Given the description of an element on the screen output the (x, y) to click on. 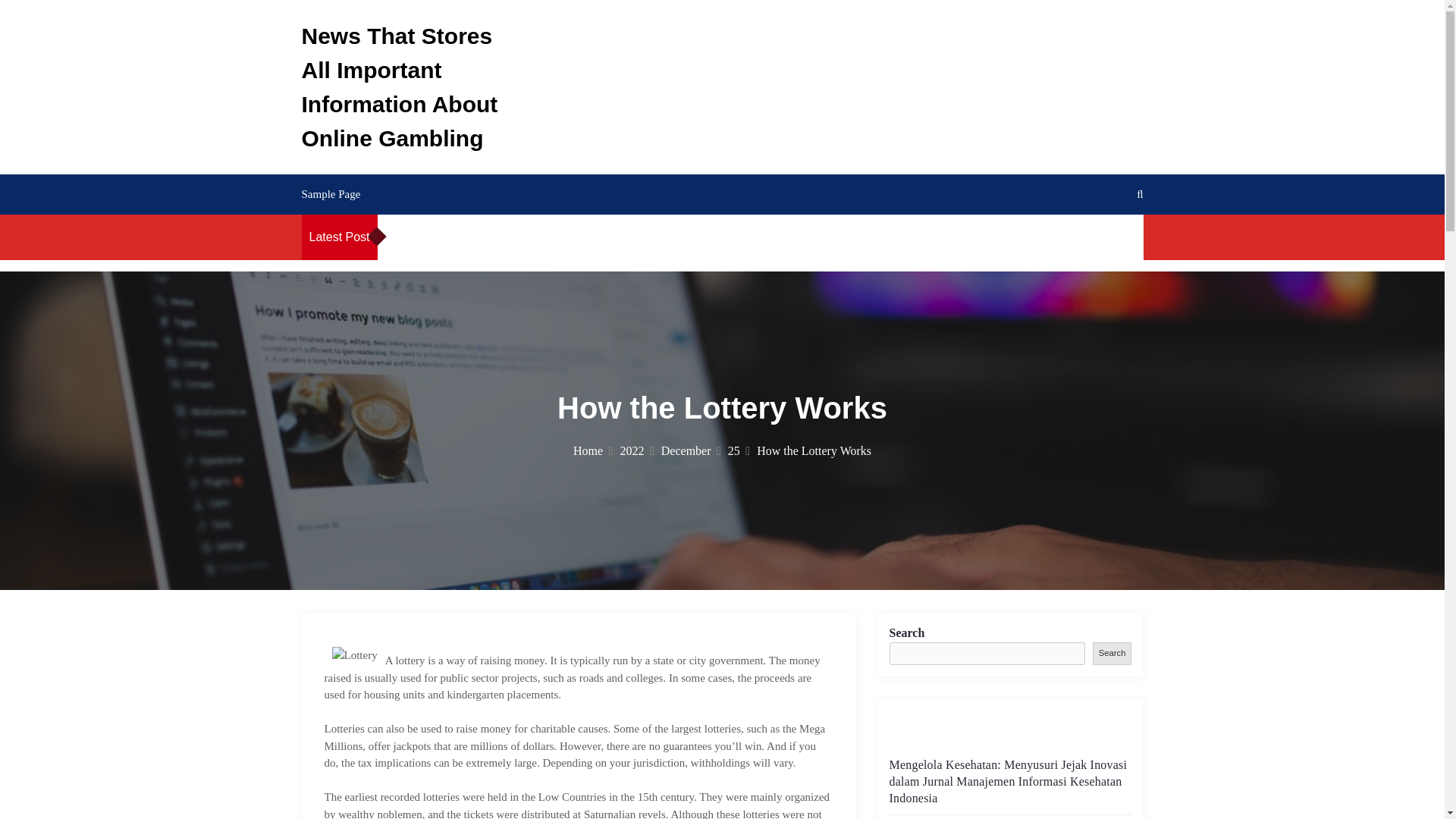
December (690, 450)
2022 (636, 450)
Home (592, 450)
Sample Page (331, 193)
Search (1112, 653)
25 (738, 450)
